Given the description of an element on the screen output the (x, y) to click on. 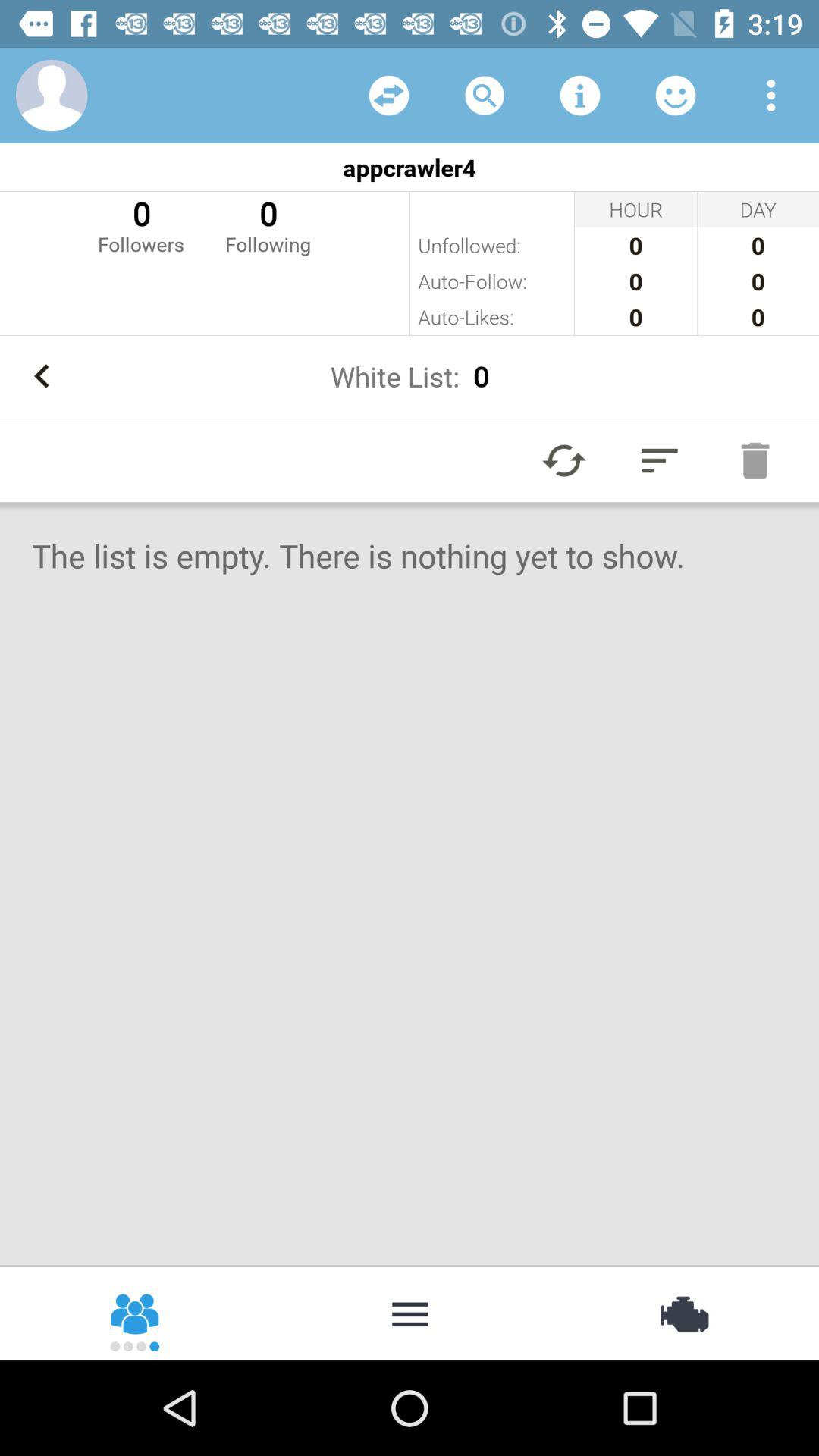
launch the icon below white list:  0 (563, 460)
